Given the description of an element on the screen output the (x, y) to click on. 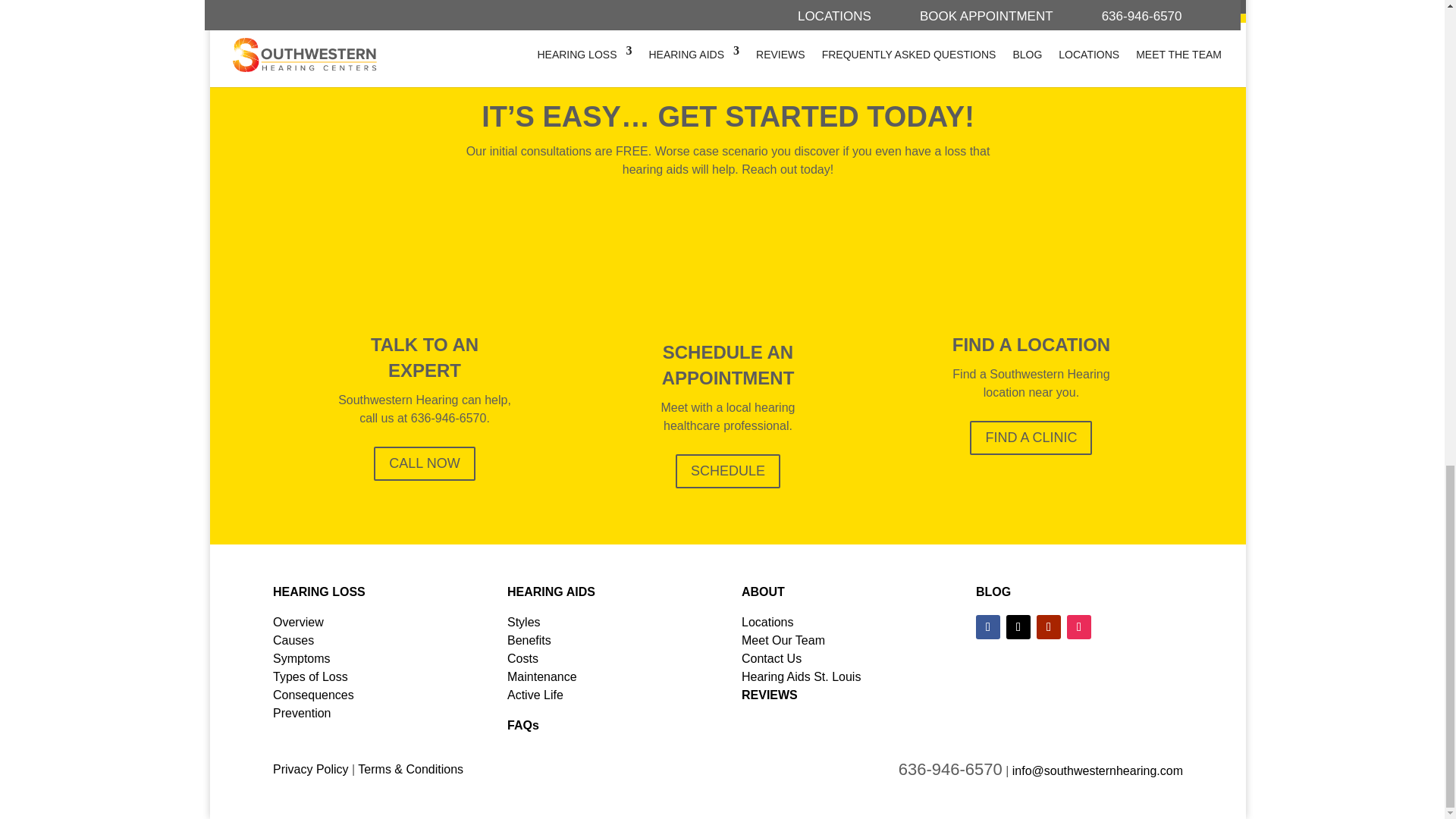
Overview (298, 621)
Follow on Instagram (1078, 627)
SCHEDULE (727, 471)
FIND A CLINIC (1030, 437)
CALL NOW (424, 463)
Follow on Facebook (987, 627)
HEARING LOSS (319, 591)
Follow on Youtube (1048, 627)
Follow on X (1018, 627)
